Given the description of an element on the screen output the (x, y) to click on. 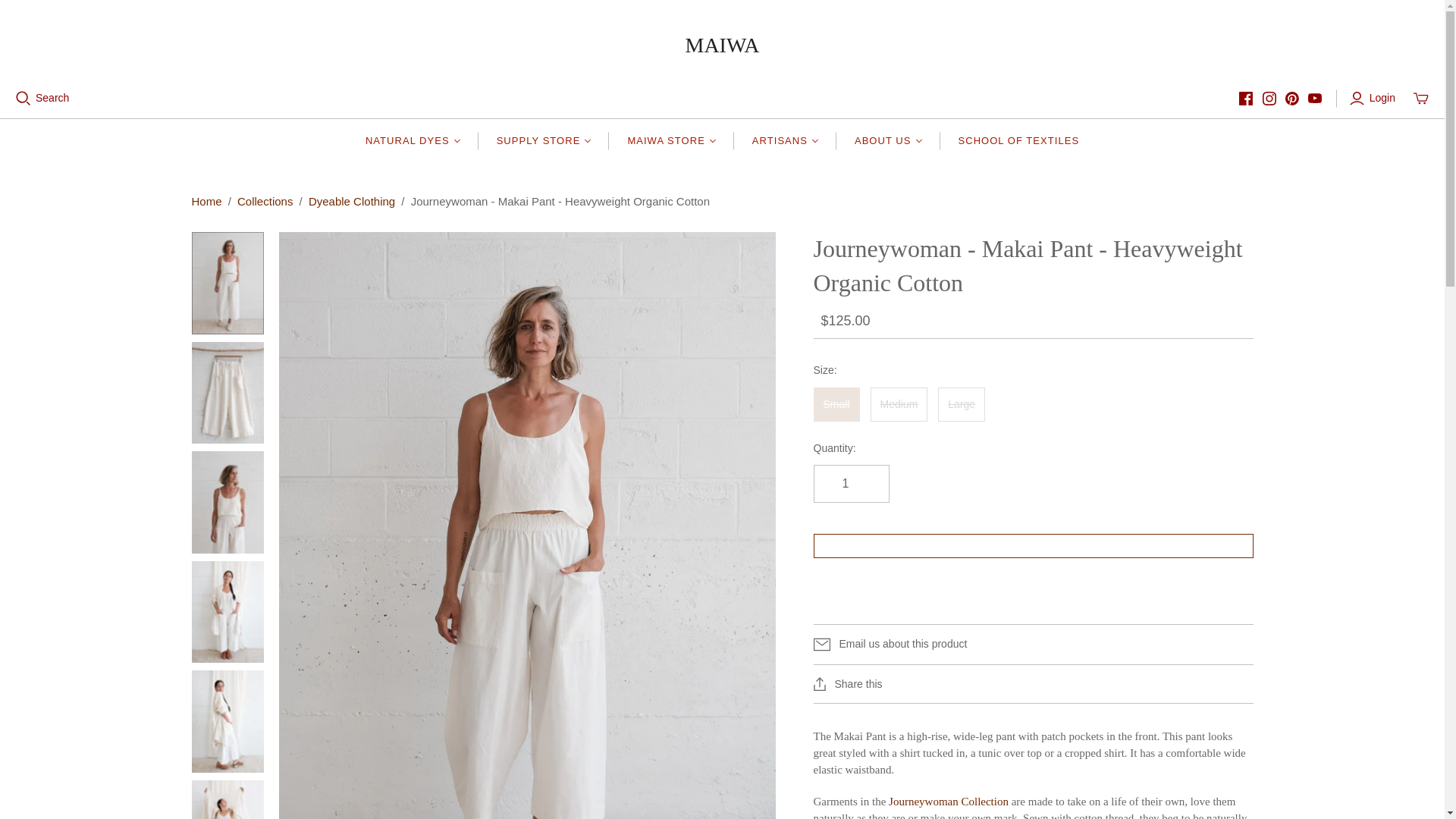
Login (1374, 98)
1 (850, 483)
MAIWA (722, 44)
